Given the description of an element on the screen output the (x, y) to click on. 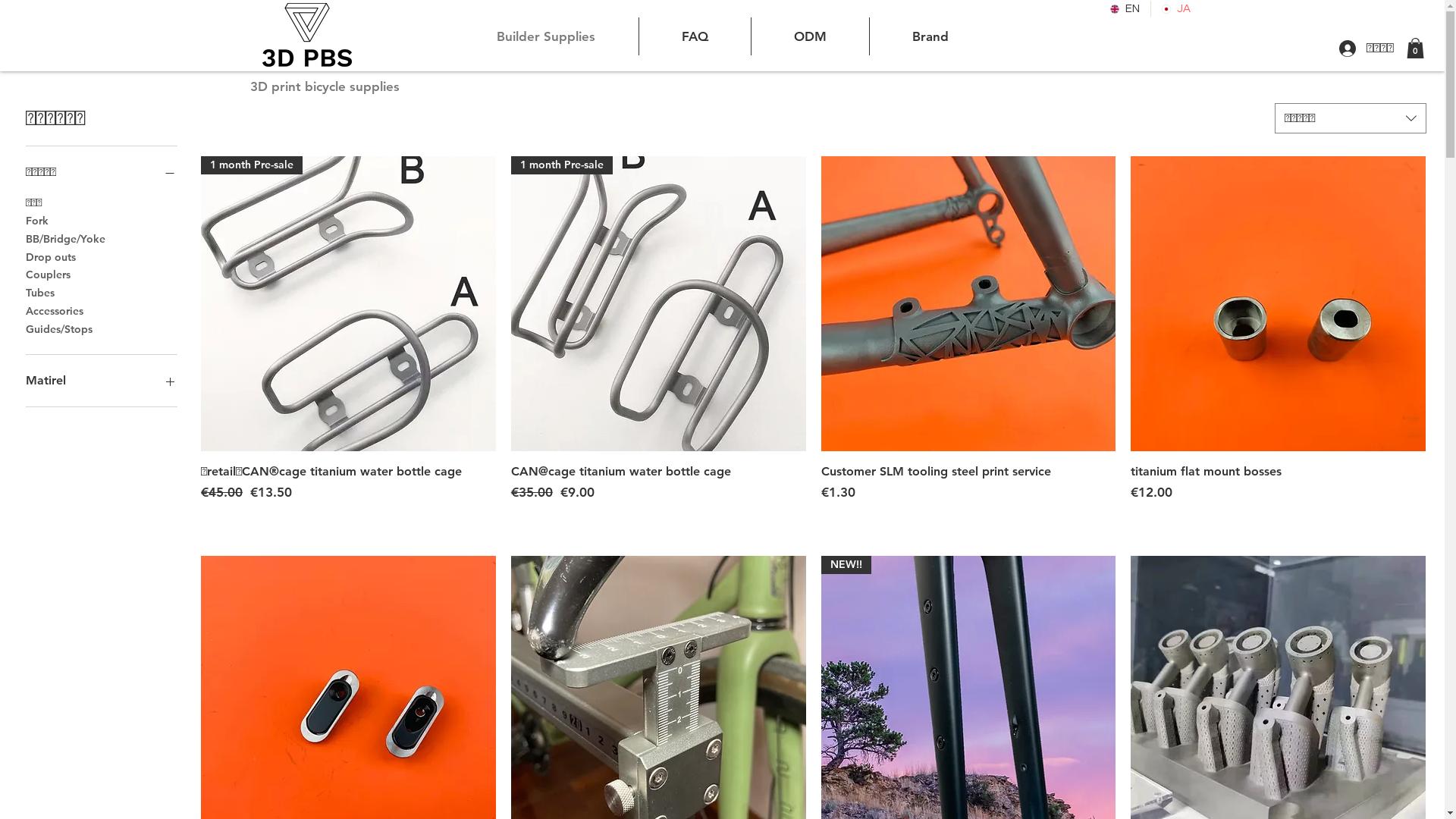
Matirel Element type: text (101, 380)
0 Element type: text (1415, 47)
ODM Element type: text (809, 36)
FAQ Element type: text (693, 36)
Builder Supplies Element type: text (545, 36)
1 month Pre-sale Element type: text (658, 303)
Brand Element type: text (929, 36)
1 month Pre-sale Element type: text (347, 303)
